Given the description of an element on the screen output the (x, y) to click on. 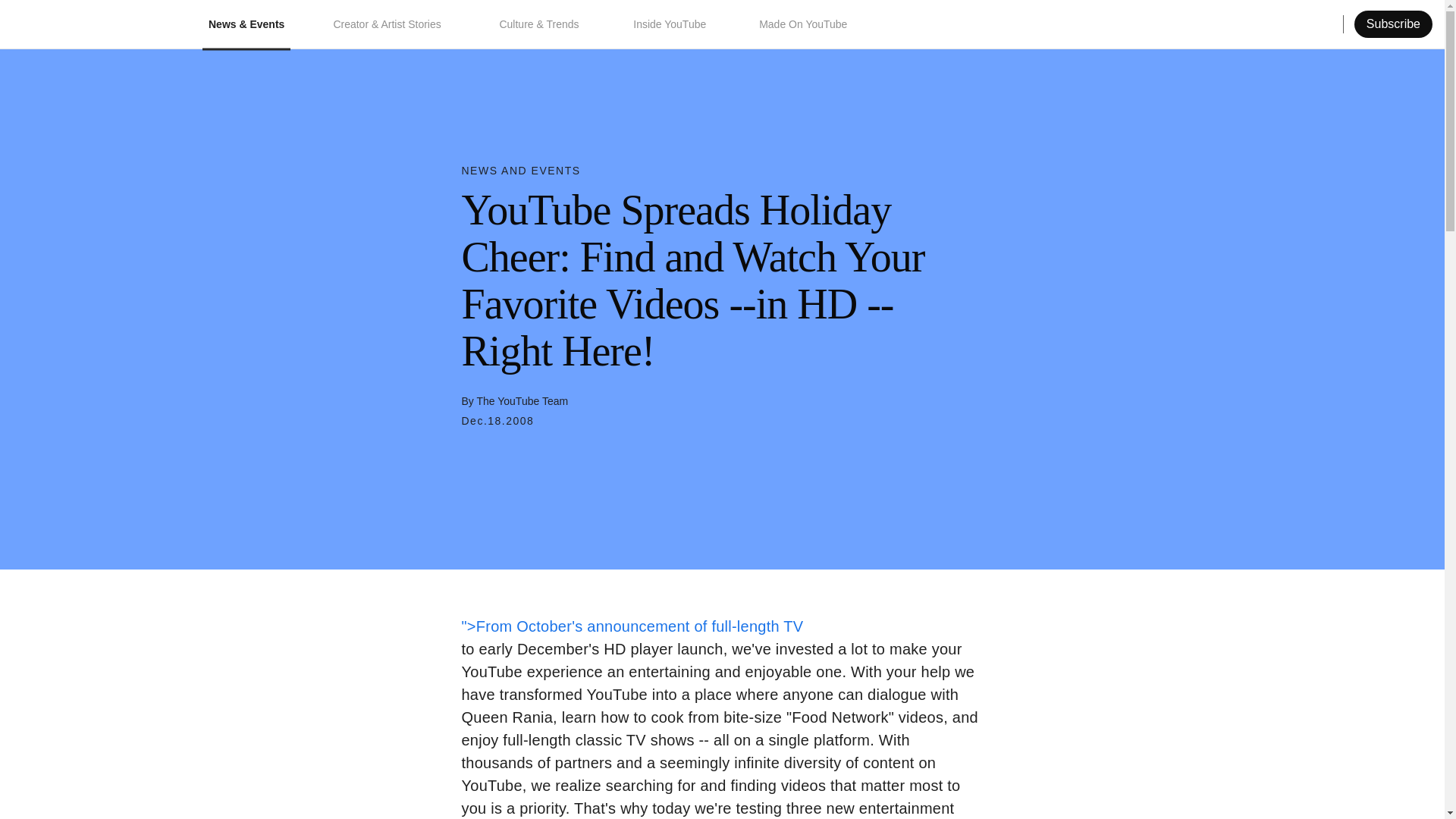
YouTube Official Blog (90, 24)
News and Events (520, 170)
NEWS AND EVENTS (520, 170)
Inside YouTube (671, 24)
Made On YouTube (804, 24)
Copy link (1375, 24)
Copy link (1375, 24)
Subscribe (1393, 23)
Inside YouTube (671, 24)
Made On YouTube (804, 24)
